Given the description of an element on the screen output the (x, y) to click on. 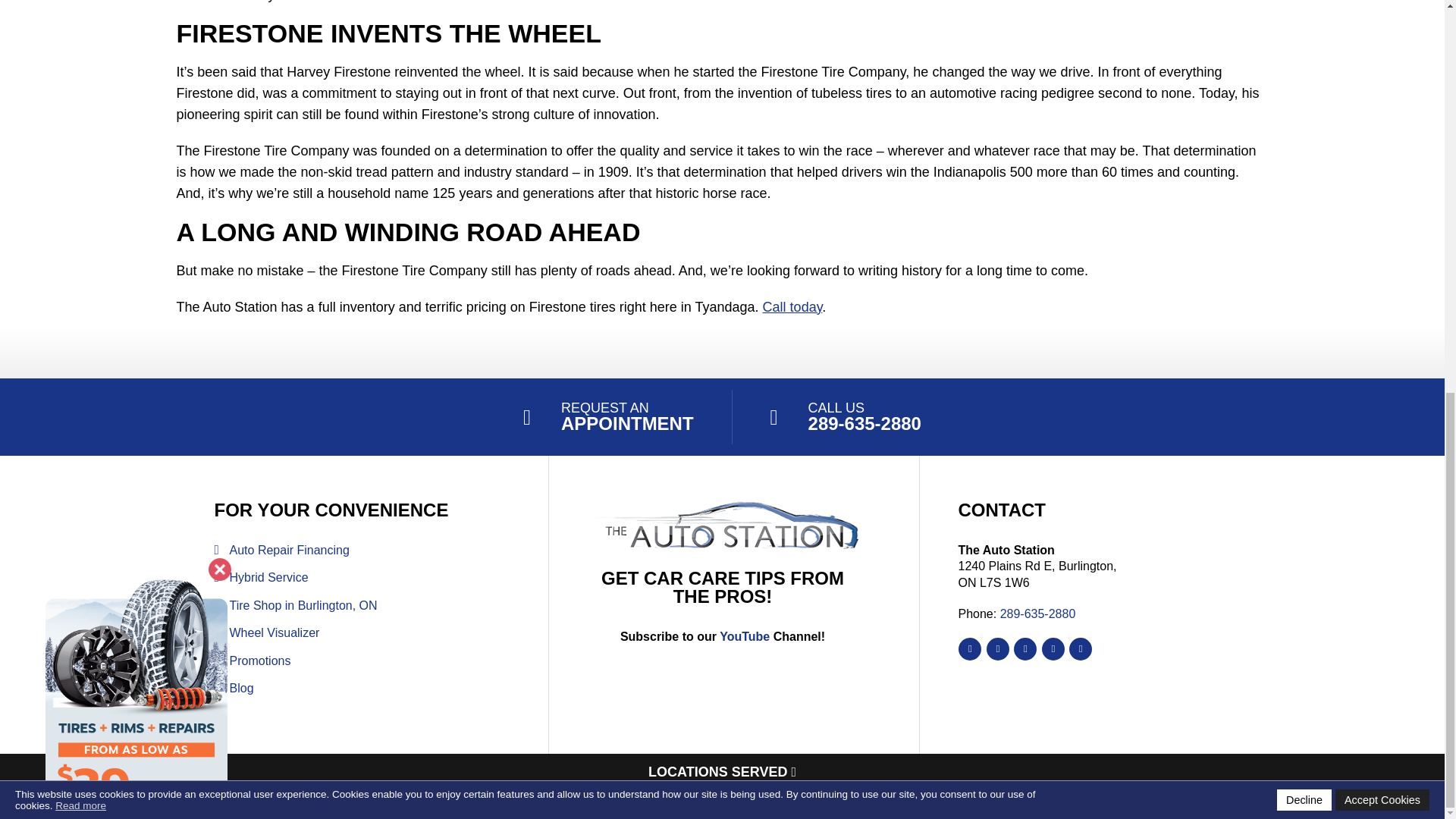
Decline (1304, 47)
Read more (80, 52)
Accept Cookies (1382, 47)
